Given the description of an element on the screen output the (x, y) to click on. 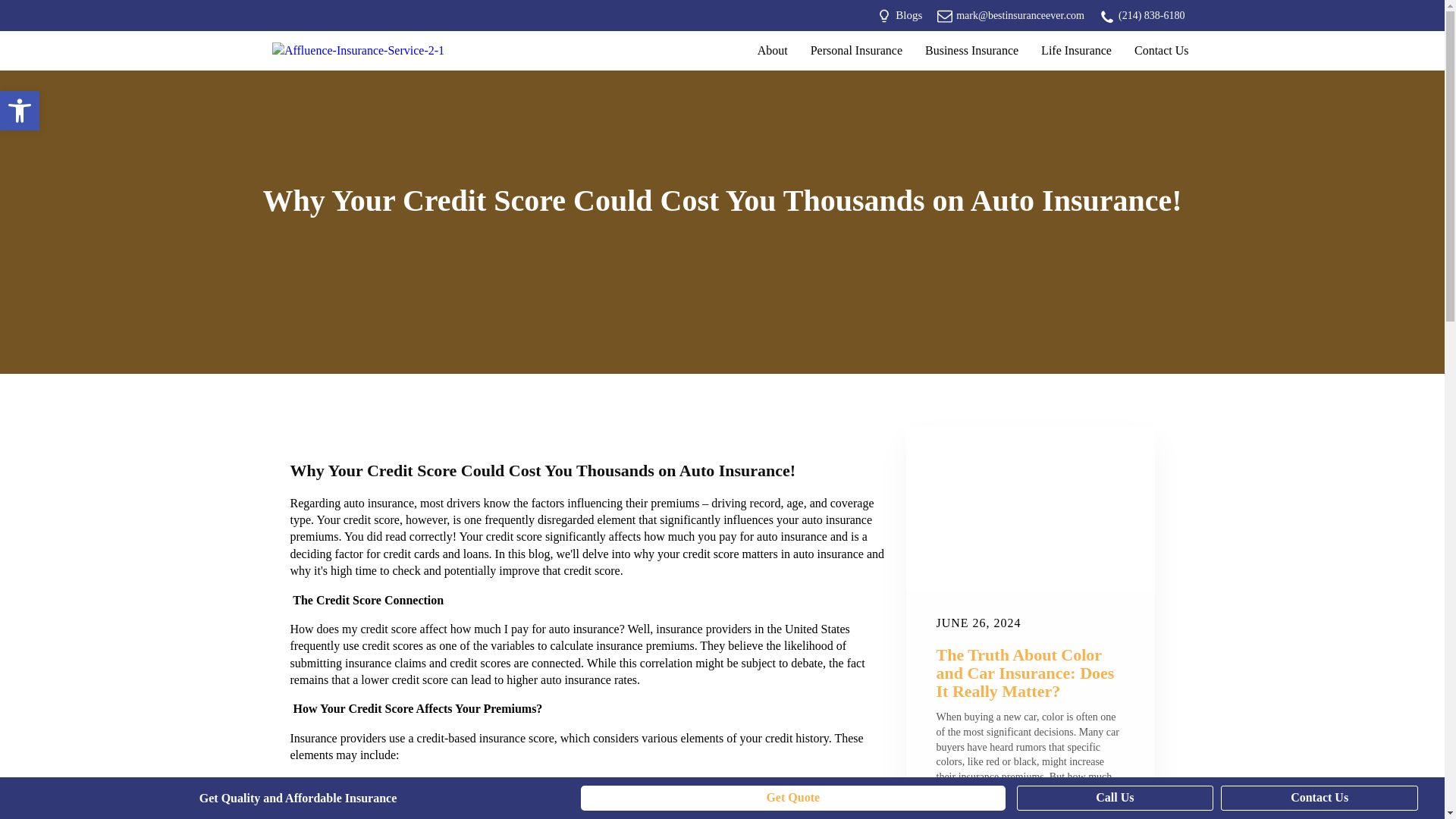
Personal Insurance (856, 50)
About (772, 50)
Accessibility Tools (19, 110)
Business Insurance (971, 50)
Contact Us (1160, 50)
Life Insurance (1075, 50)
Accessibility Tools (19, 110)
Blogs (898, 15)
